Given the description of an element on the screen output the (x, y) to click on. 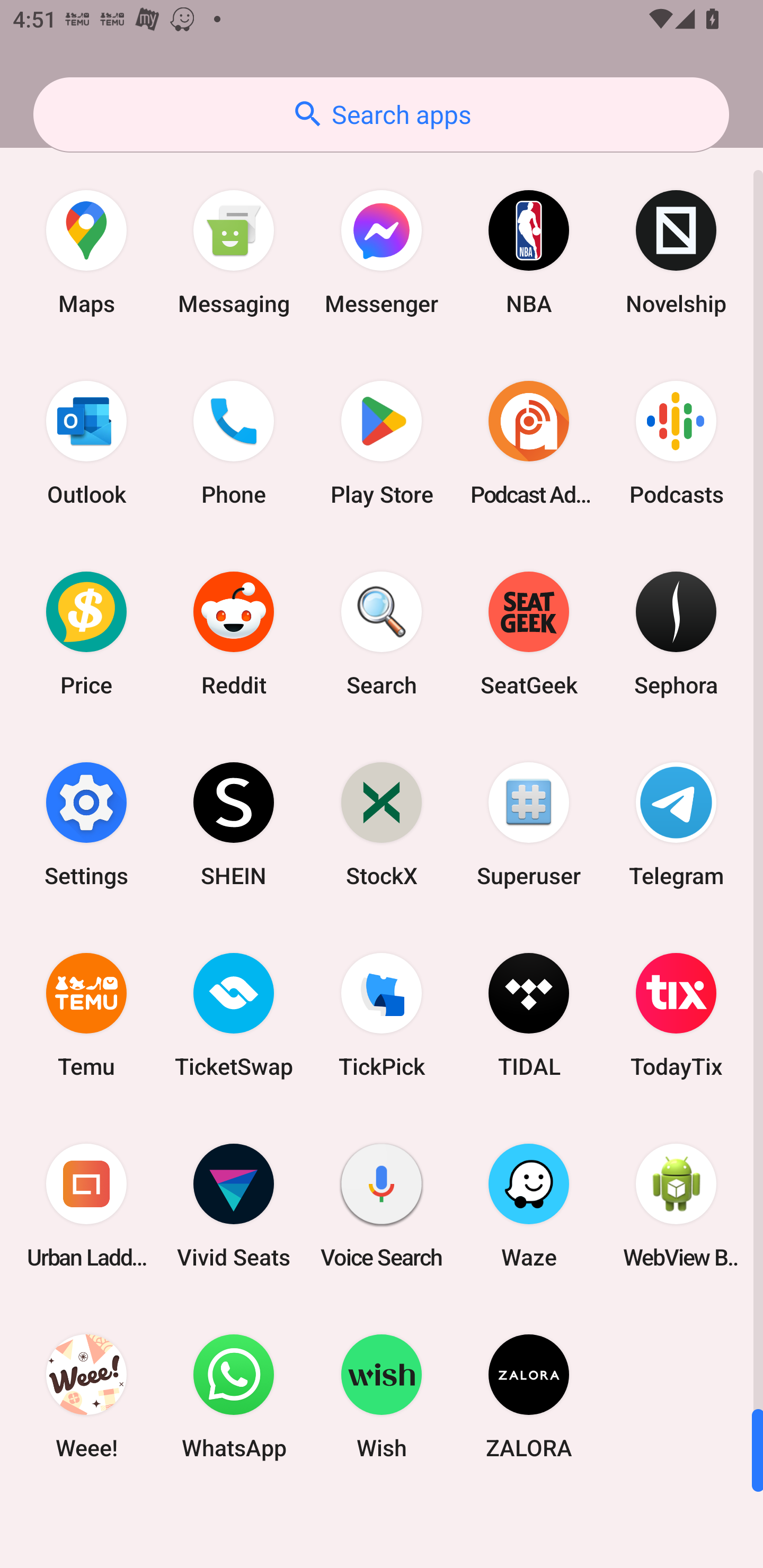
  Search apps (381, 114)
Maps (86, 252)
Messaging (233, 252)
Messenger (381, 252)
NBA (528, 252)
Novelship (676, 252)
Outlook (86, 442)
Phone (233, 442)
Play Store (381, 442)
Podcast Addict (528, 442)
Podcasts (676, 442)
Price (86, 633)
Reddit (233, 633)
Search (381, 633)
SeatGeek (528, 633)
Sephora (676, 633)
Settings (86, 823)
SHEIN (233, 823)
StockX (381, 823)
Superuser (528, 823)
Telegram (676, 823)
Temu (86, 1014)
TicketSwap (233, 1014)
TickPick (381, 1014)
TIDAL (528, 1014)
TodayTix (676, 1014)
Urban Ladder (86, 1205)
Vivid Seats (233, 1205)
Voice Search (381, 1205)
Waze (528, 1205)
WebView Browser Tester (676, 1205)
Weee! (86, 1396)
WhatsApp (233, 1396)
Wish (381, 1396)
ZALORA (528, 1396)
